Given the description of an element on the screen output the (x, y) to click on. 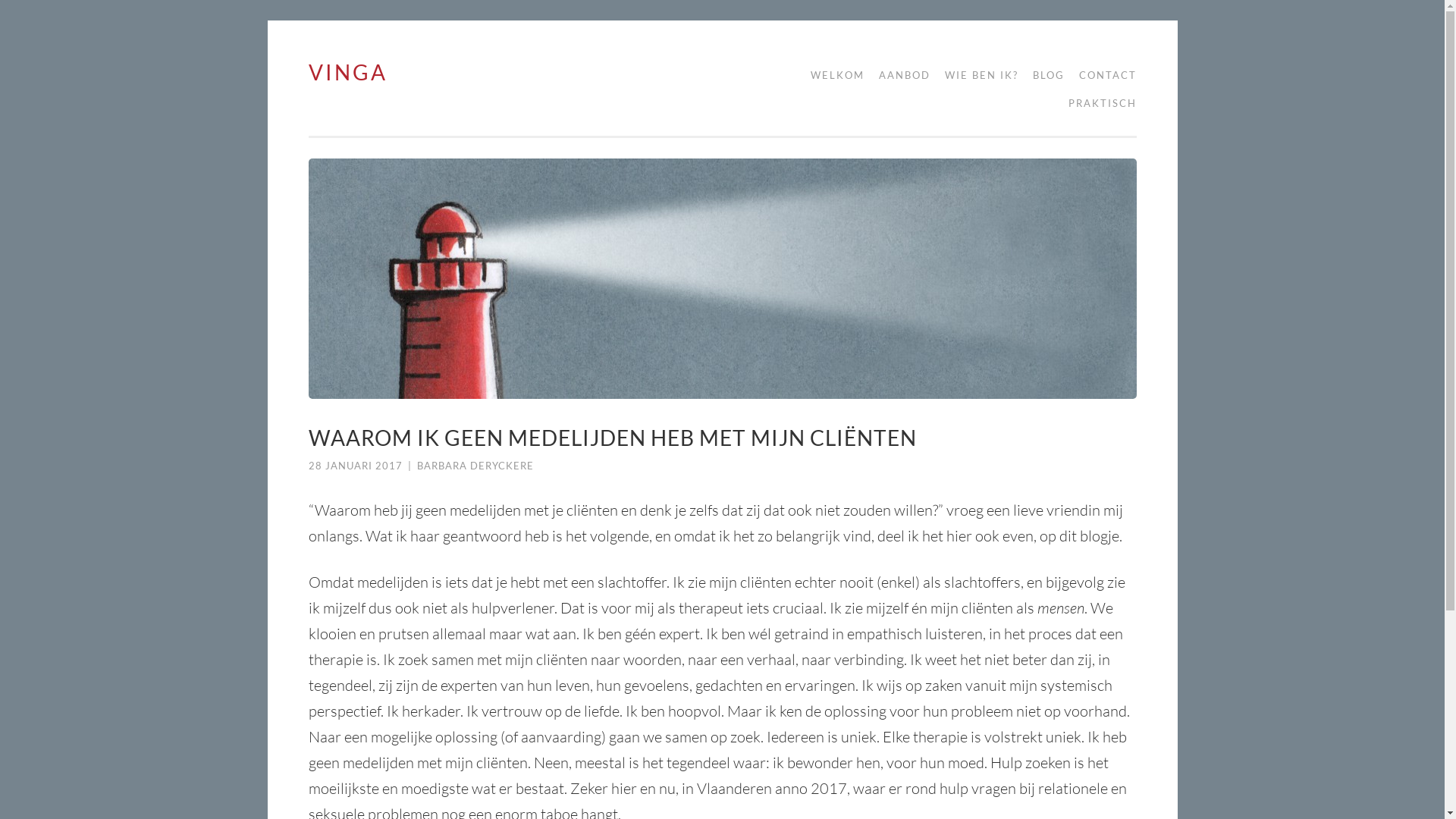
28 JANUARI 2017 Element type: text (354, 465)
VINGA Element type: text (346, 71)
WIE BEN IK? Element type: text (976, 75)
BARBARA DERYCKERE Element type: text (475, 465)
Skip to content Element type: text (307, 60)
PRAKTISCH Element type: text (1096, 103)
WELKOM Element type: text (831, 75)
AANBOD Element type: text (898, 75)
CONTACT Element type: text (1101, 75)
BLOG Element type: text (1043, 75)
